Given the description of an element on the screen output the (x, y) to click on. 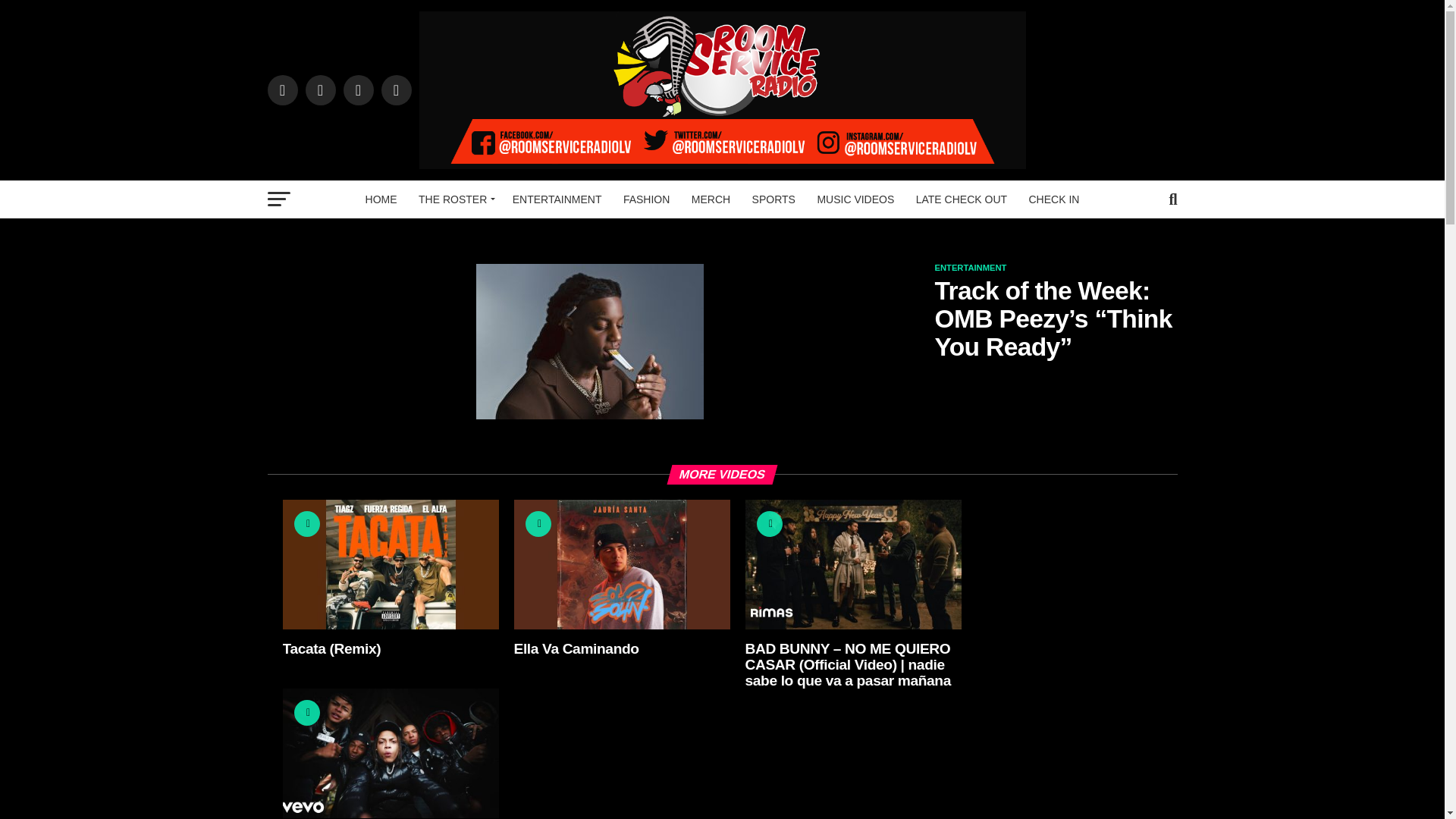
HOME (381, 199)
ENTERTAINMENT (557, 199)
THE ROSTER (454, 199)
